Given the description of an element on the screen output the (x, y) to click on. 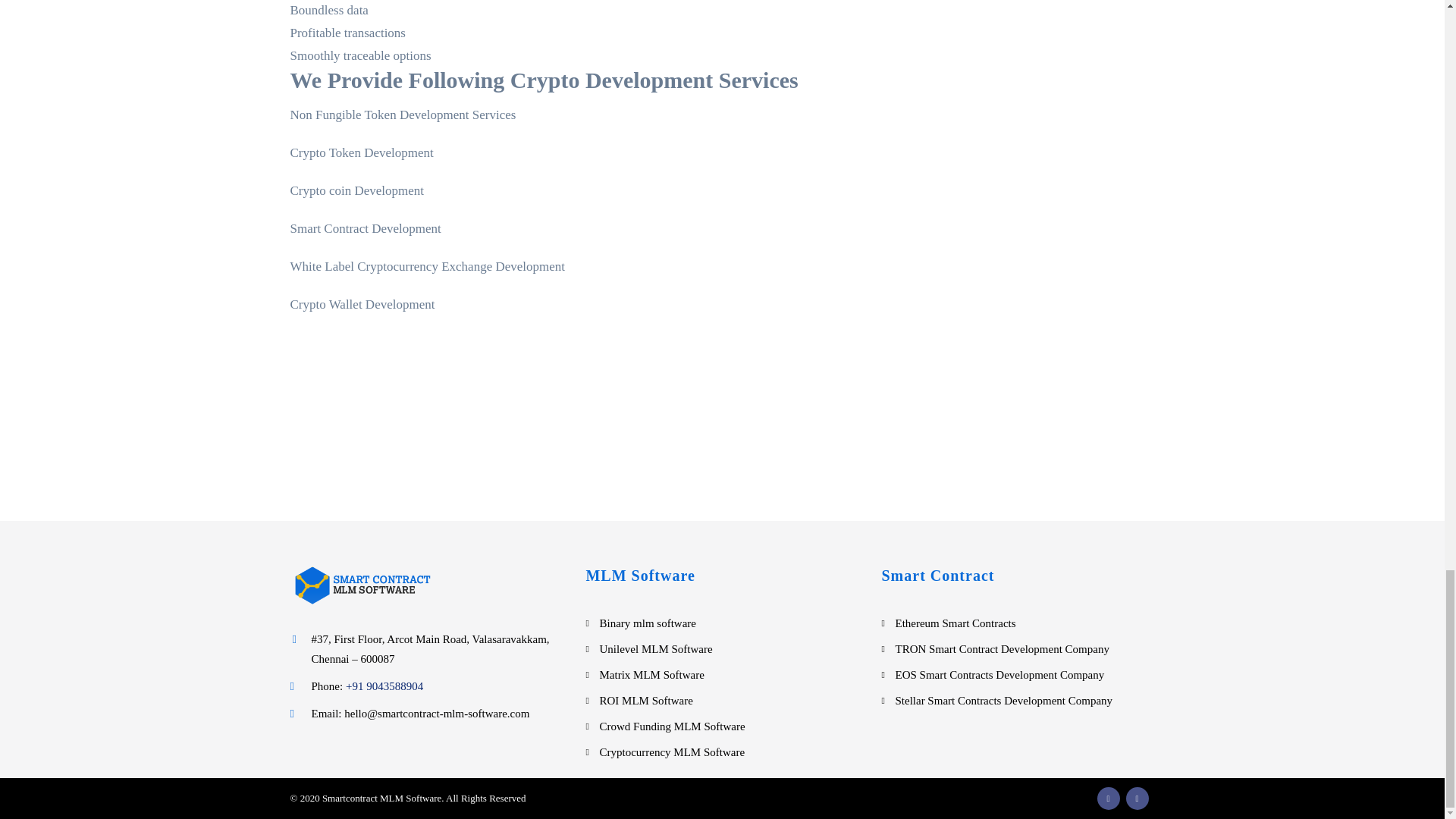
ROI MLM Software (645, 700)
Binary mlm software (646, 623)
Unilevel MLM Software (654, 648)
Cryptocurrency MLM Software (671, 752)
Matrix MLM Software (650, 674)
Crowd Funding MLM Software (671, 726)
